Given the description of an element on the screen output the (x, y) to click on. 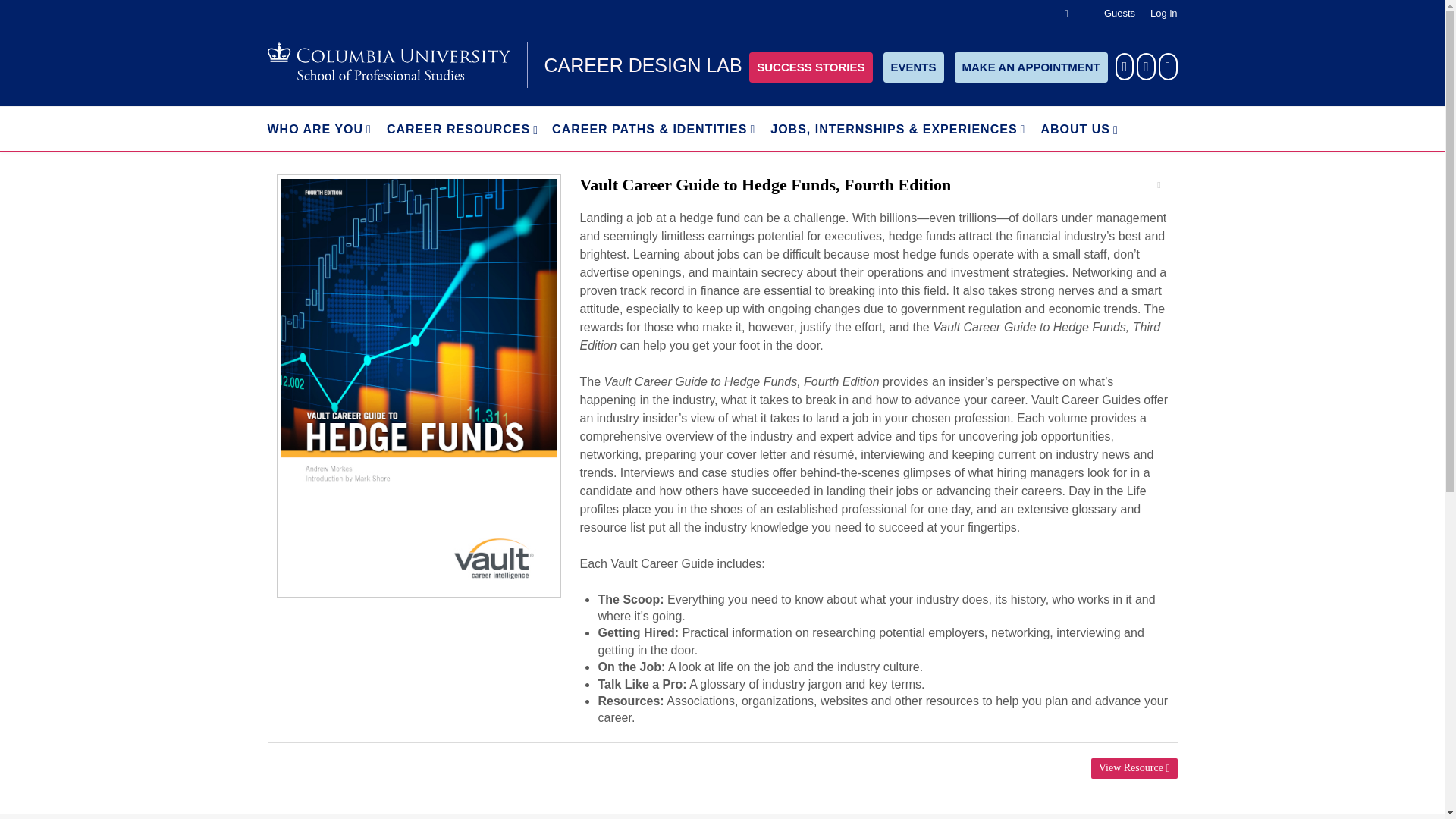
CAREER RESOURCES (453, 129)
Guests (1119, 13)
WHO ARE YOU (318, 129)
EVENTS (913, 67)
Log in to the guest contributors portal (1119, 13)
MAKE AN APPOINTMENT (1031, 67)
Submit Search (38, 9)
Log in (1163, 13)
SUCCESS STORIES (810, 67)
CAREER DESIGN LAB (503, 64)
